Given the description of an element on the screen output the (x, y) to click on. 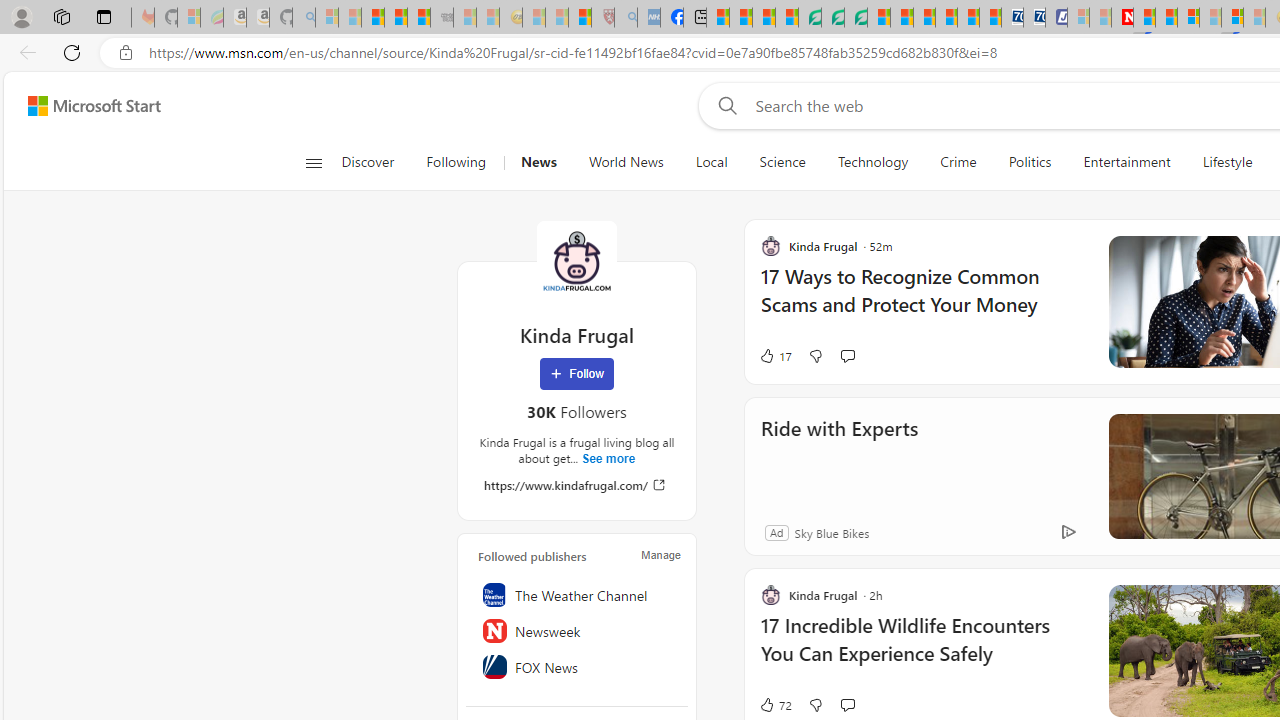
Web search (724, 105)
Newsweek (577, 631)
Latest Politics News & Archive | Newsweek.com (1122, 17)
Terms of Use Agreement (832, 17)
Technology (872, 162)
Local (711, 162)
Microsoft Word - consumer-privacy address update 2.2021 (855, 17)
17 Ways to Recognize Common Scams and Protect Your Money (922, 300)
Technology (872, 162)
Science (781, 162)
